Given the description of an element on the screen output the (x, y) to click on. 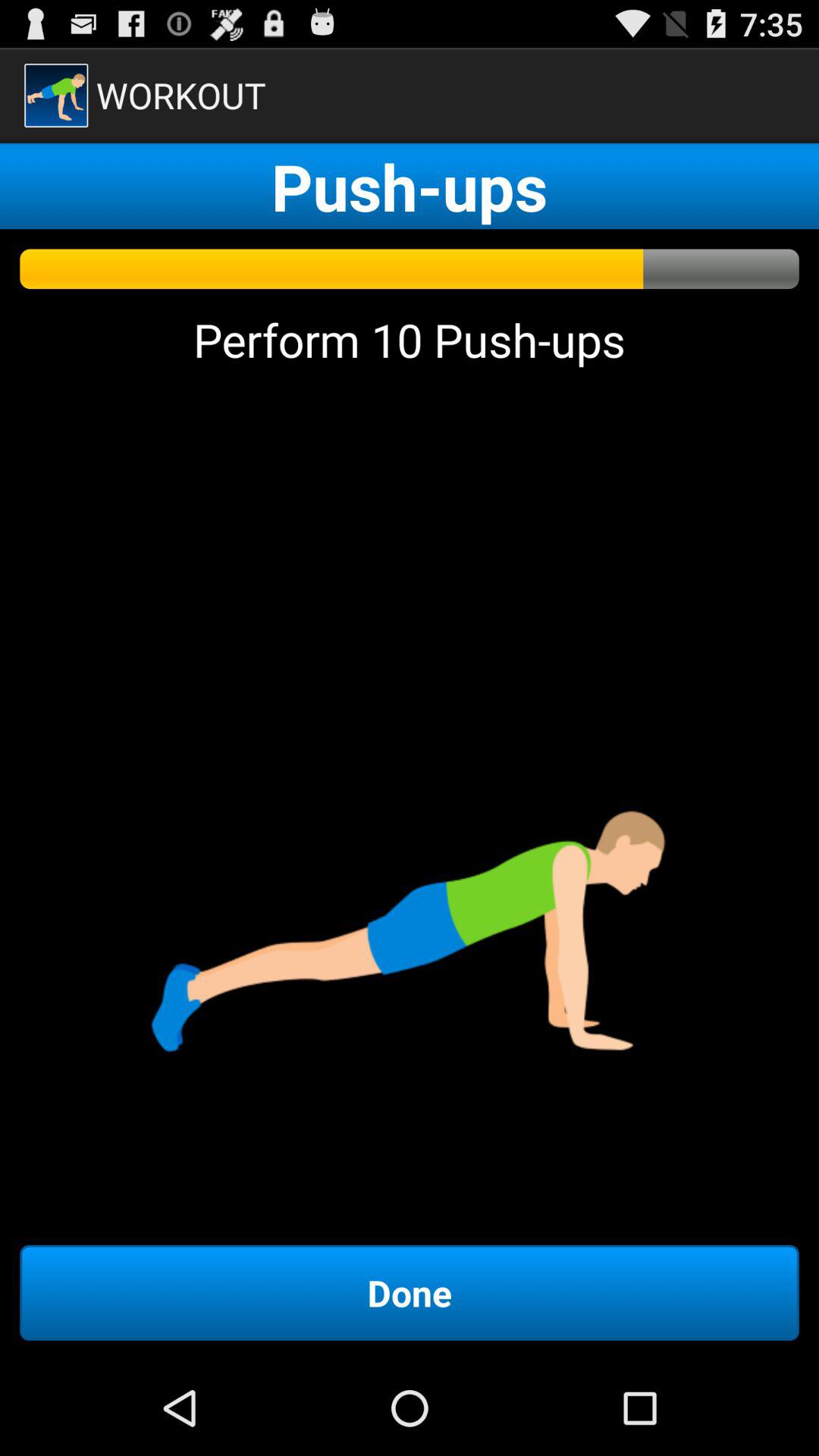
press the done at the bottom (409, 1292)
